Given the description of an element on the screen output the (x, y) to click on. 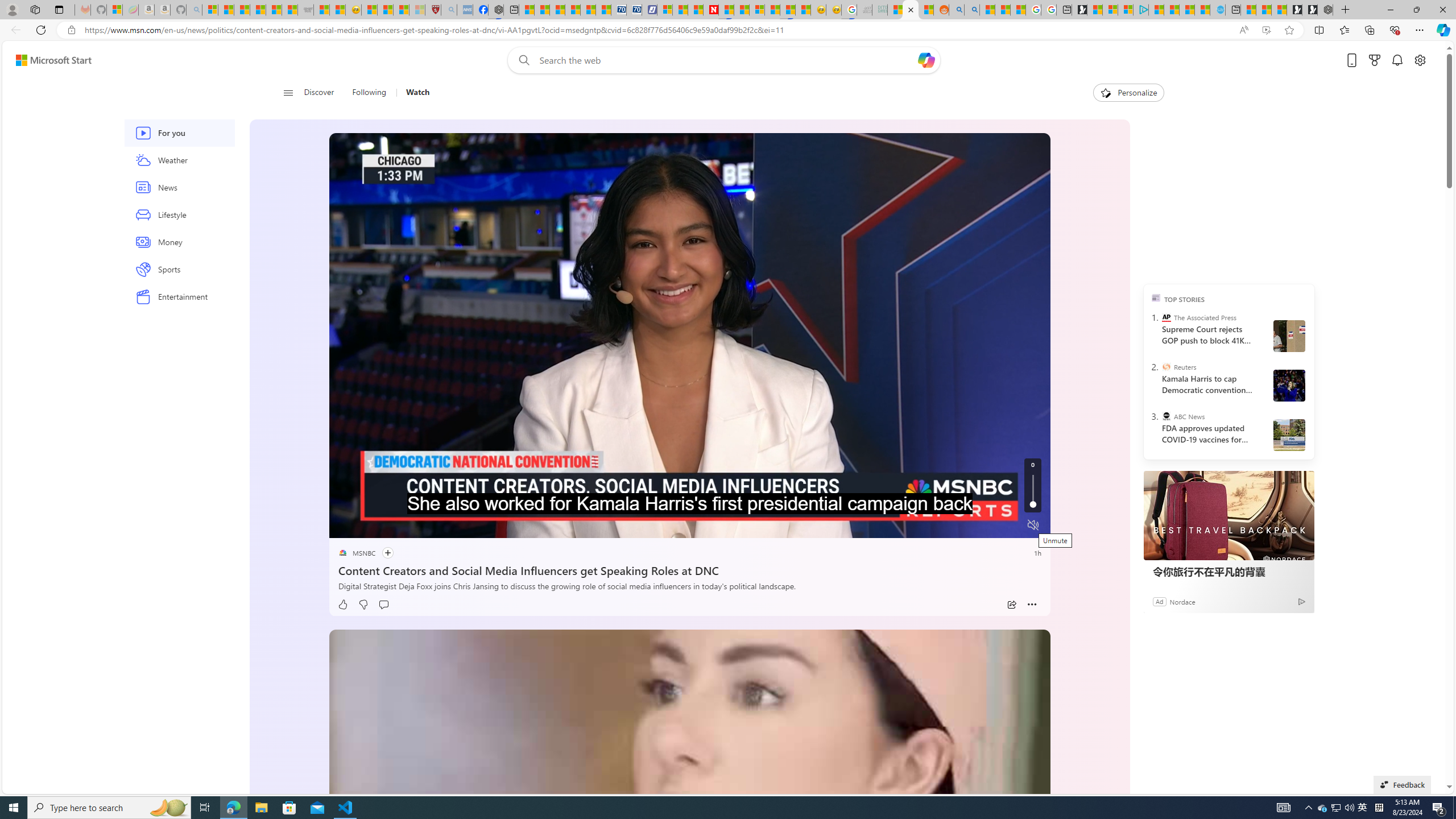
Follow (381, 553)
DITOGAMES AG Imprint - Sleeping (879, 9)
The Associated Press (1165, 316)
14 Common Myths Debunked By Scientific Facts (741, 9)
Open navigation menu (287, 92)
Class: at-item inline-watch (1031, 604)
